Given the description of an element on the screen output the (x, y) to click on. 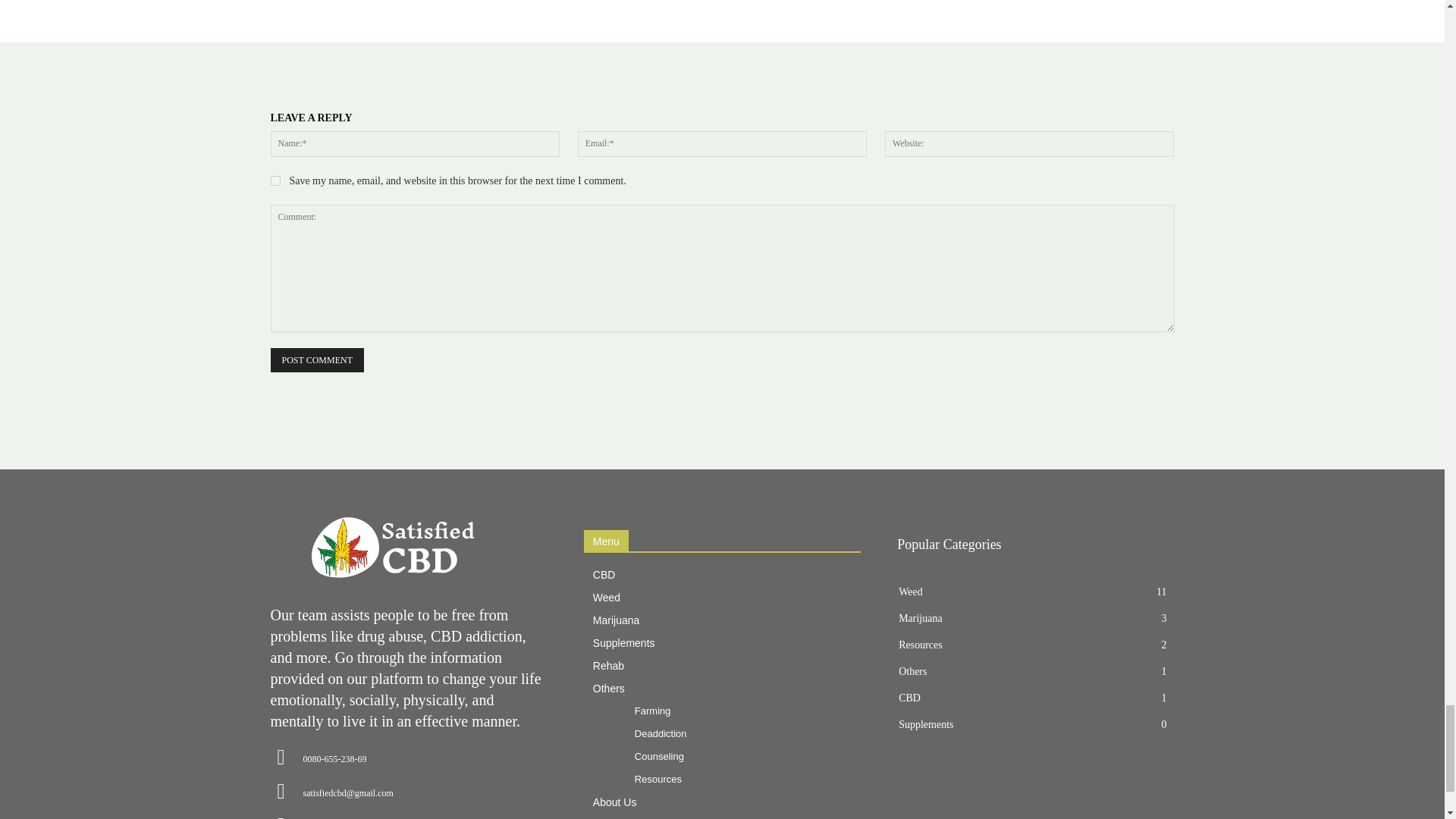
yes (274, 180)
Post Comment (315, 360)
